Given the description of an element on the screen output the (x, y) to click on. 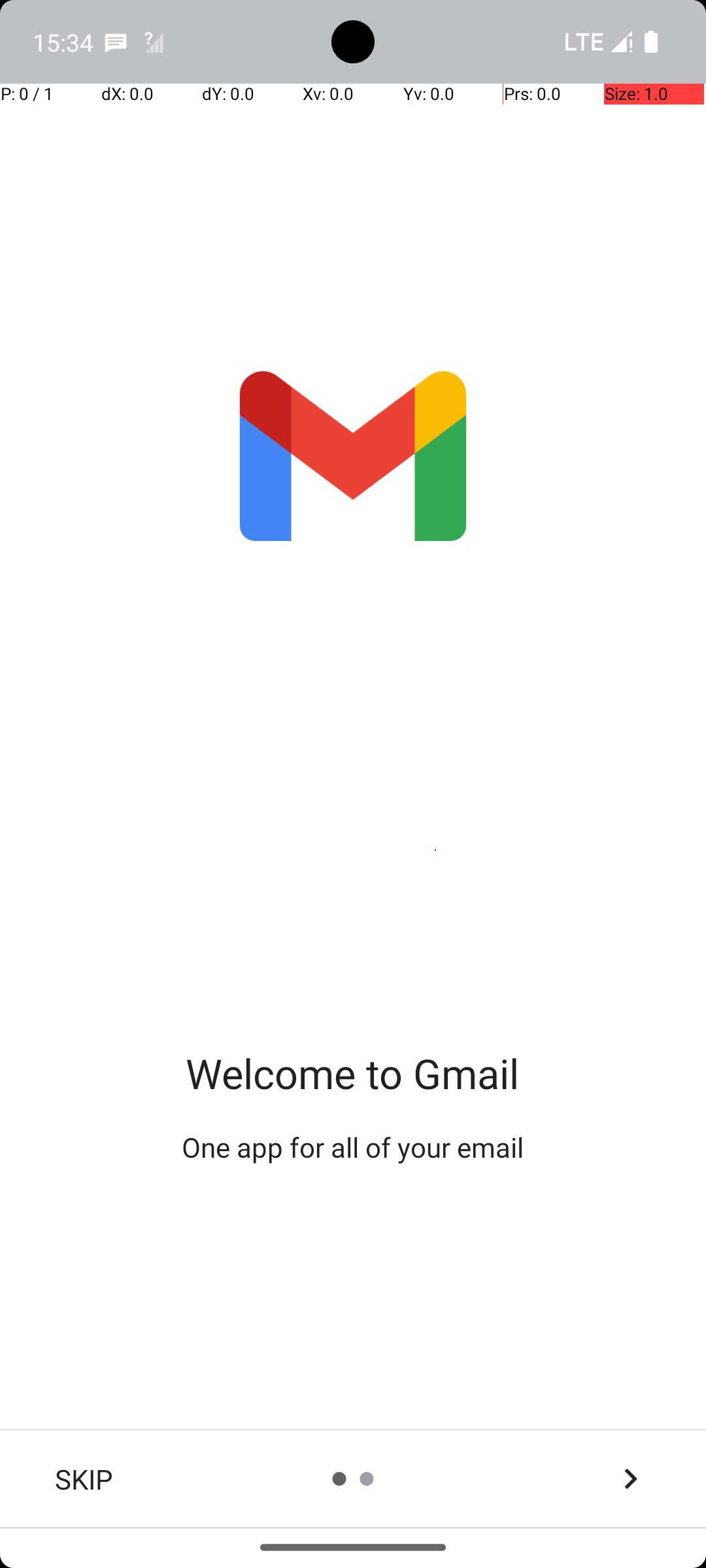
SKIP Element type: android.widget.TextView (83, 1478)
Welcome to Gmail Element type: android.widget.TextView (352, 1072)
One app for all of your email Element type: android.widget.TextView (352, 1146)
Android System notification: Sign in to network Element type: android.widget.ImageView (153, 41)
